Given the description of an element on the screen output the (x, y) to click on. 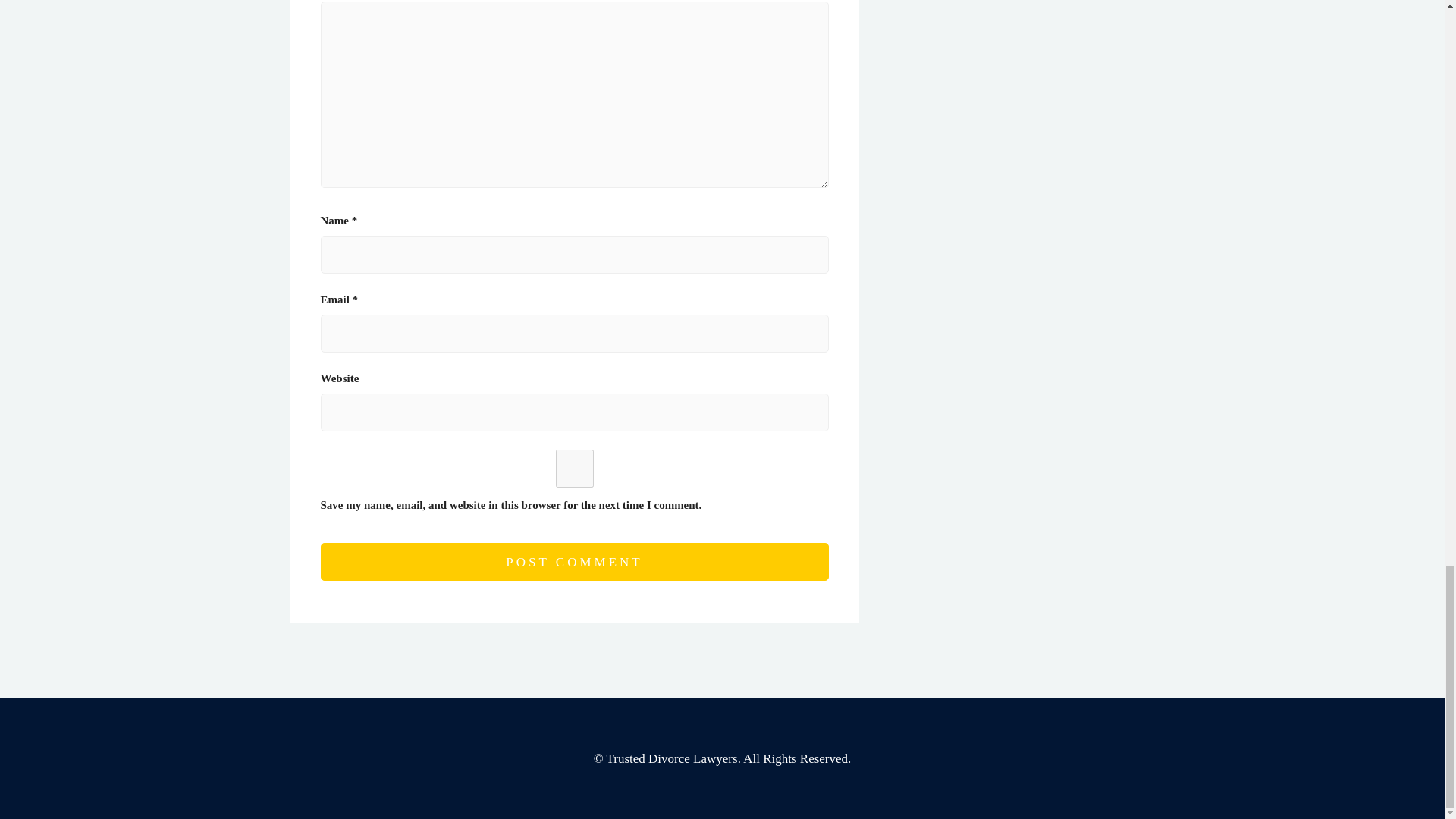
Post Comment (574, 561)
Post Comment (574, 561)
yes (574, 468)
